Given the description of an element on the screen output the (x, y) to click on. 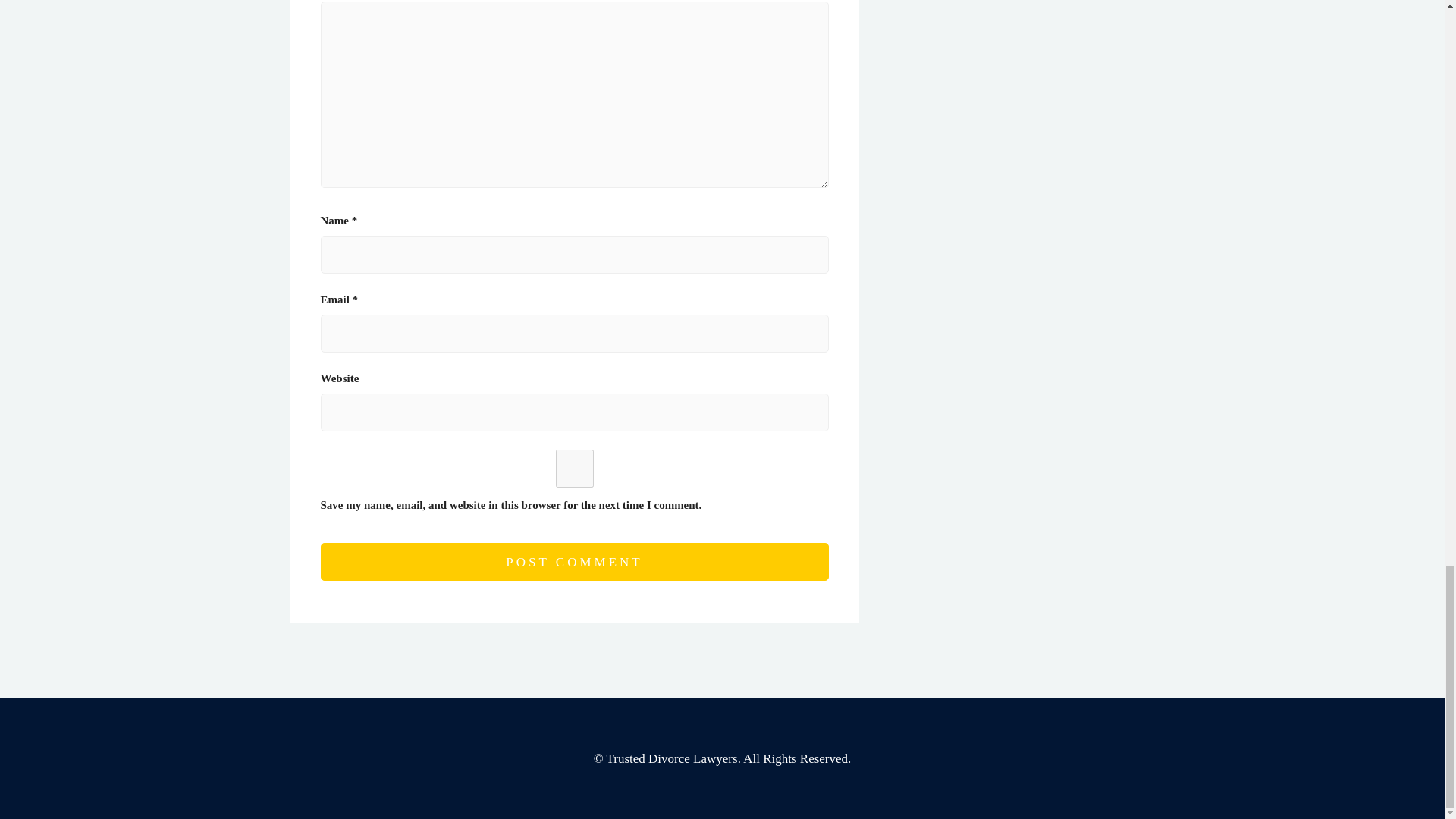
Post Comment (574, 561)
Post Comment (574, 561)
yes (574, 468)
